Given the description of an element on the screen output the (x, y) to click on. 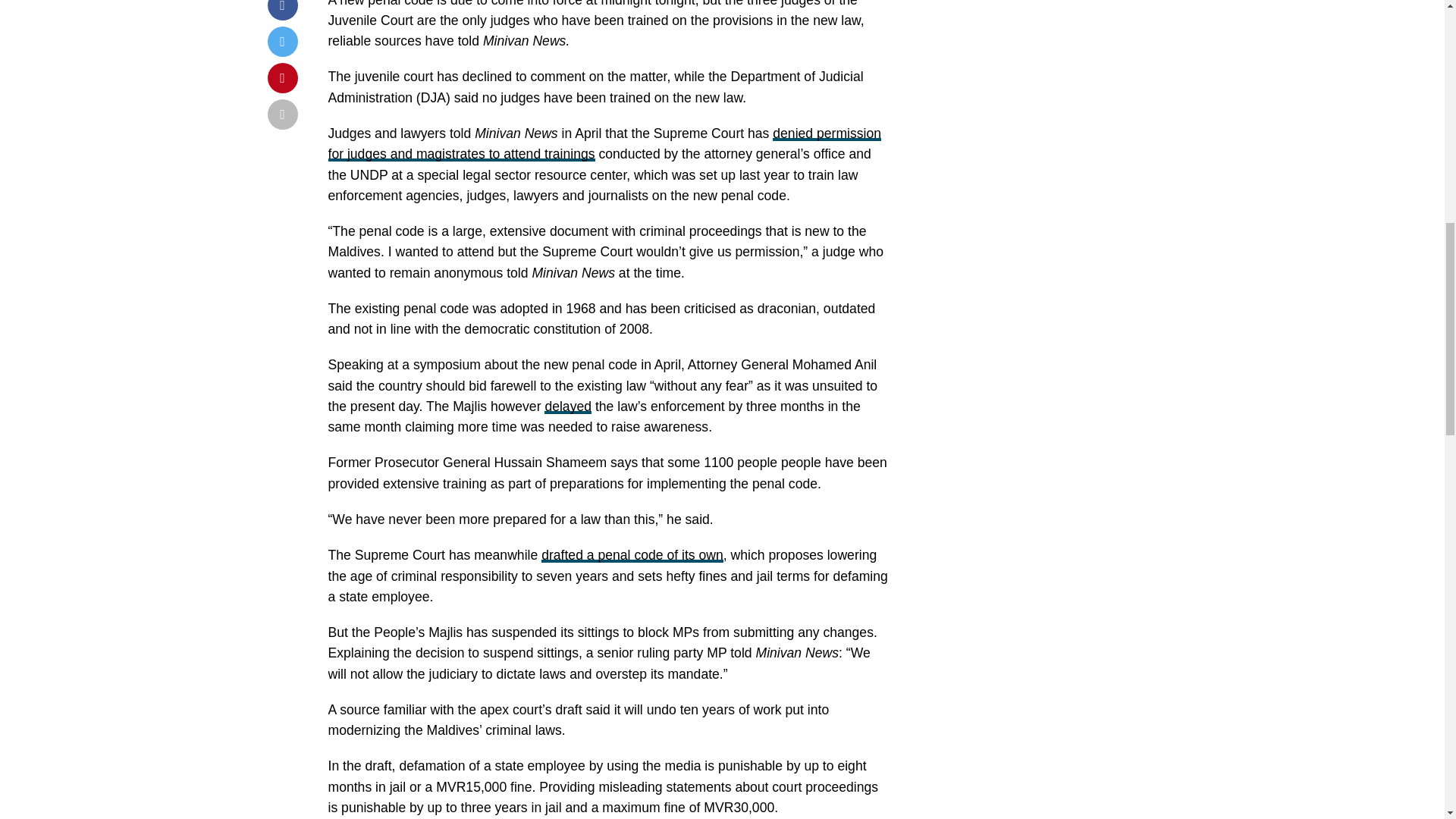
delayed (567, 406)
